Given the description of an element on the screen output the (x, y) to click on. 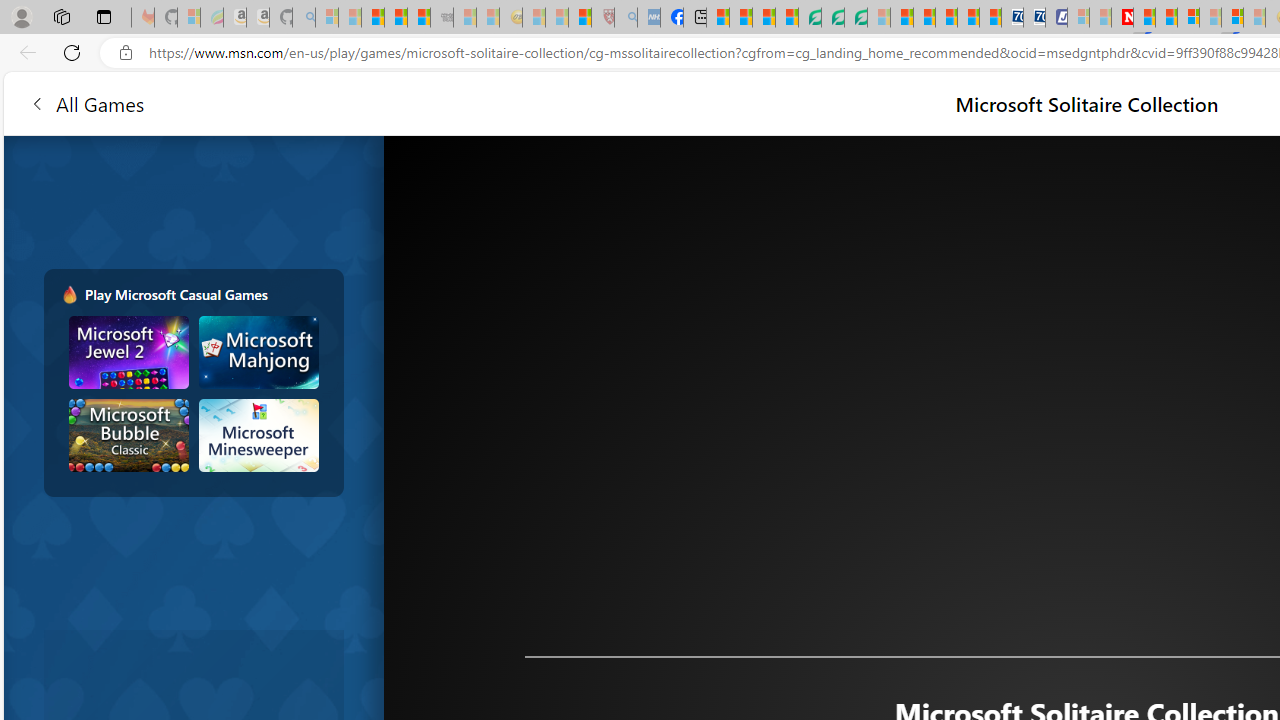
Microsoft Minesweeper (258, 435)
Cheap Hotels - Save70.com (1034, 17)
Microsoft Bubble Classic (129, 435)
Microsoft Jewel 2 (129, 352)
Fire icon (69, 294)
Microsoft Minesweeper (258, 435)
